Given the description of an element on the screen output the (x, y) to click on. 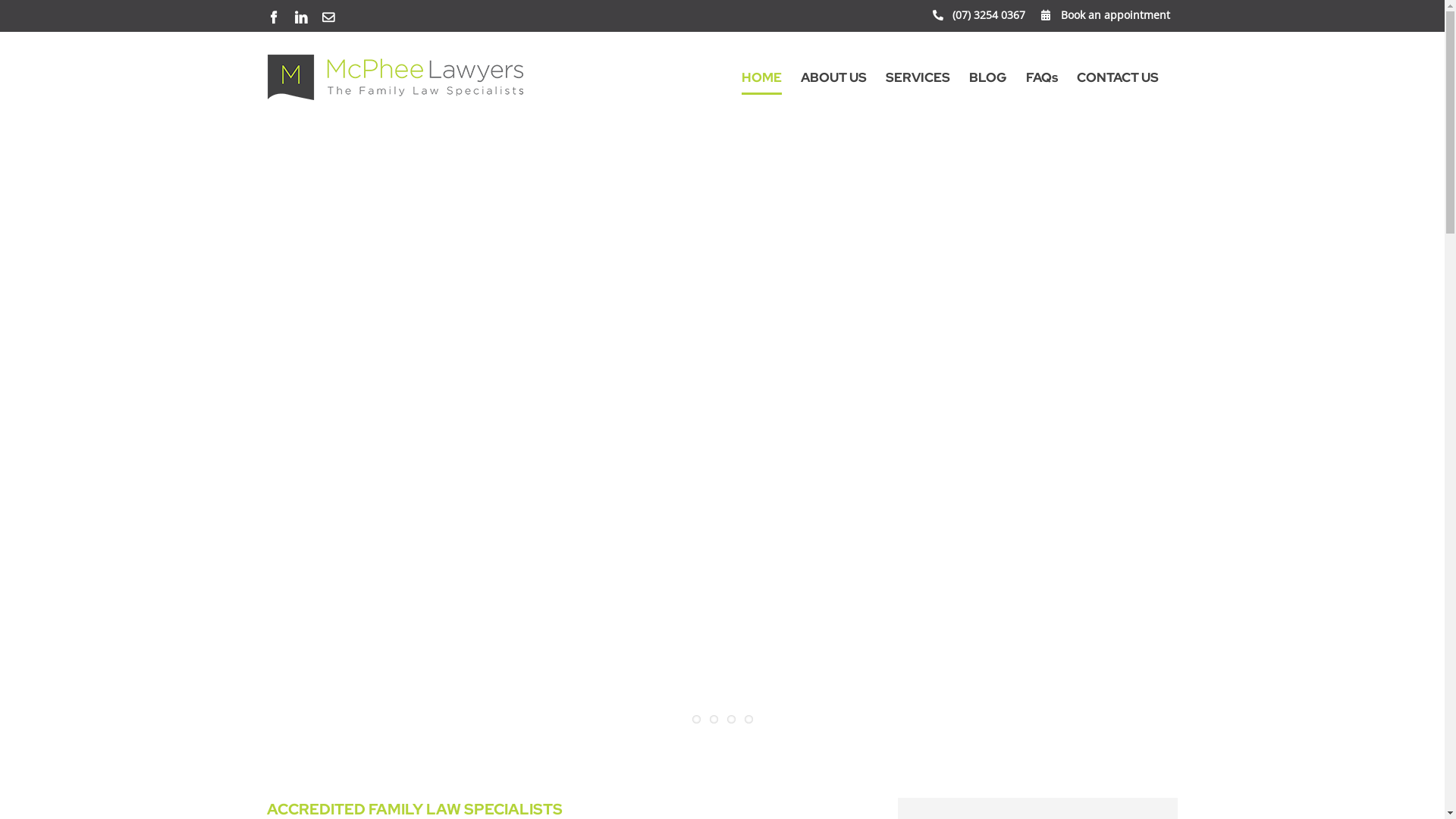
CONTACT US Element type: text (1117, 76)
OUR SERVICES Element type: text (327, 520)
2 Element type: text (713, 719)
HOME Element type: text (761, 76)
Email Element type: text (327, 17)
3 Element type: text (730, 719)
(07) 3254 0367 Element type: text (978, 15)
1 Element type: text (695, 719)
ABOUT US Element type: text (833, 76)
SERVICES Element type: text (917, 76)
4 Element type: text (748, 719)
BLOG Element type: text (988, 76)
FAQs Element type: text (1041, 76)
Facebook Element type: text (272, 17)
LinkedIn Element type: text (300, 17)
Book an appointment Element type: text (1104, 15)
